Given the description of an element on the screen output the (x, y) to click on. 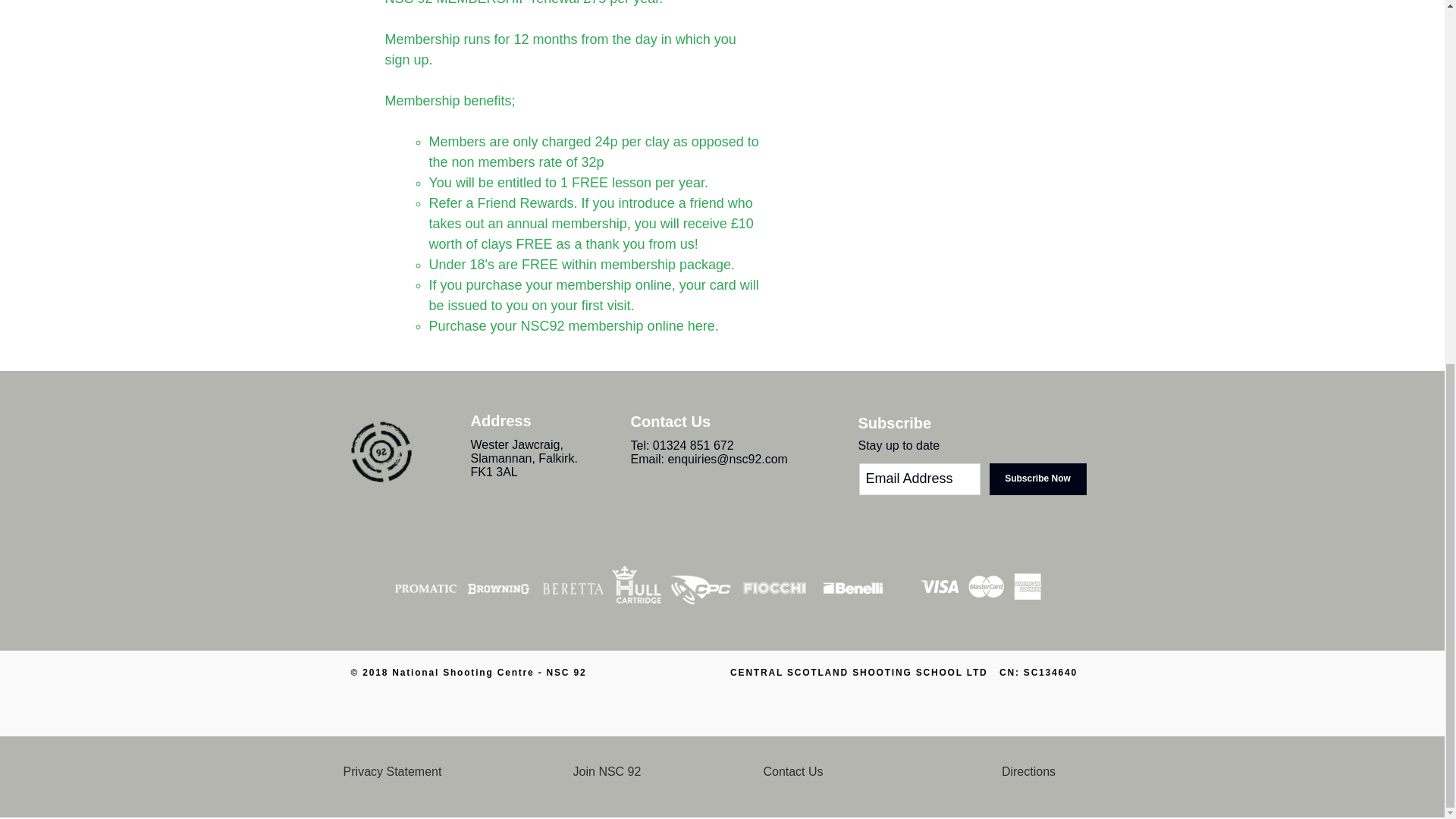
Subscribe Now (1037, 479)
Contact Us (792, 771)
Join NSC 92 (607, 771)
01324 851 672 (692, 445)
Privacy Statement (392, 771)
Directions (1028, 771)
